Given the description of an element on the screen output the (x, y) to click on. 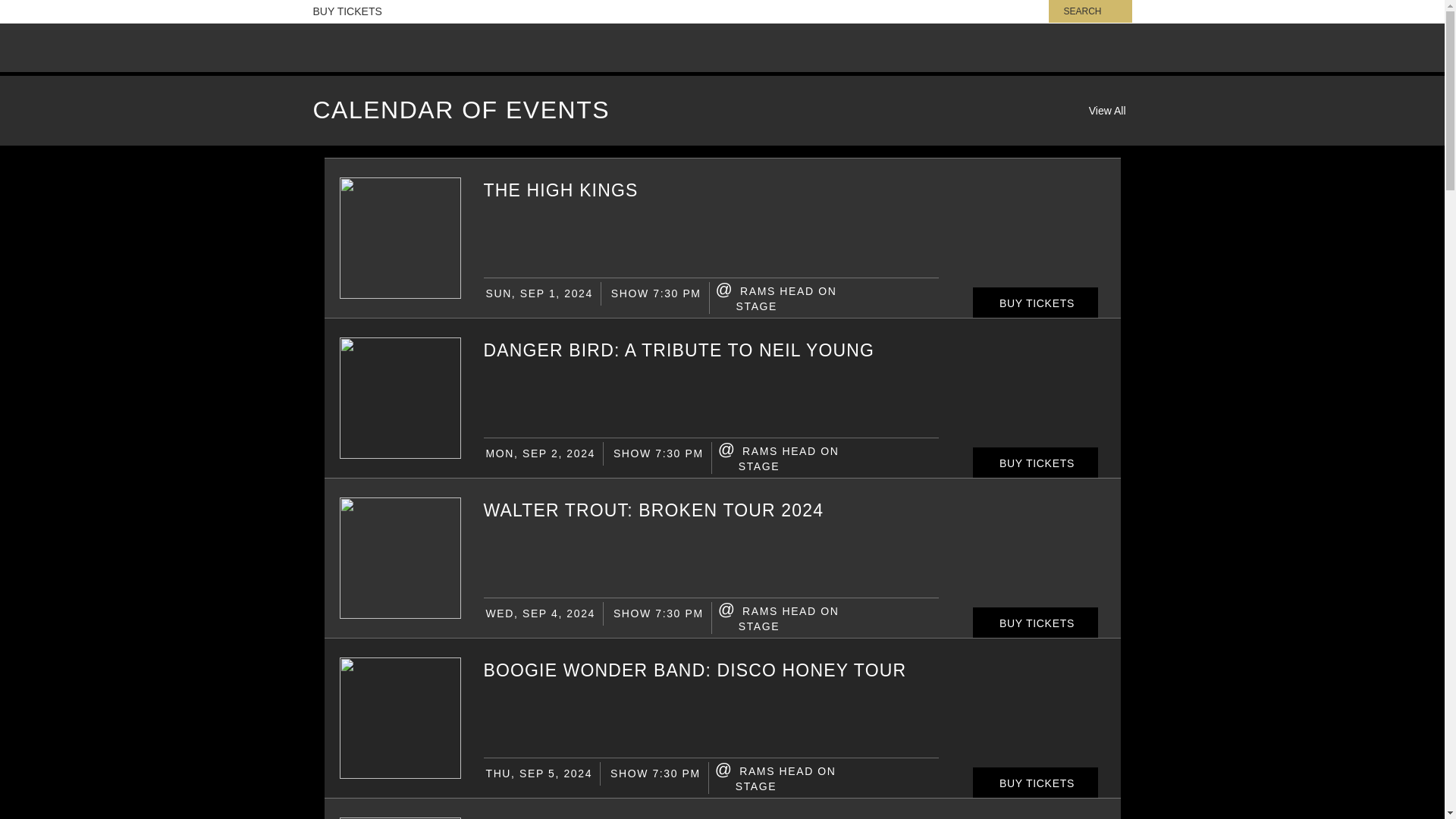
More Info (653, 510)
View All (1107, 110)
Buy Tickets (1034, 622)
WALTER TROUT: BROKEN TOUR 2024 (653, 510)
Ticketed by AXS.com (718, 114)
Buy Tickets (1034, 302)
More Info (400, 294)
More Info (561, 189)
BUY TICKETS (1034, 462)
More Info (695, 670)
